Given the description of an element on the screen output the (x, y) to click on. 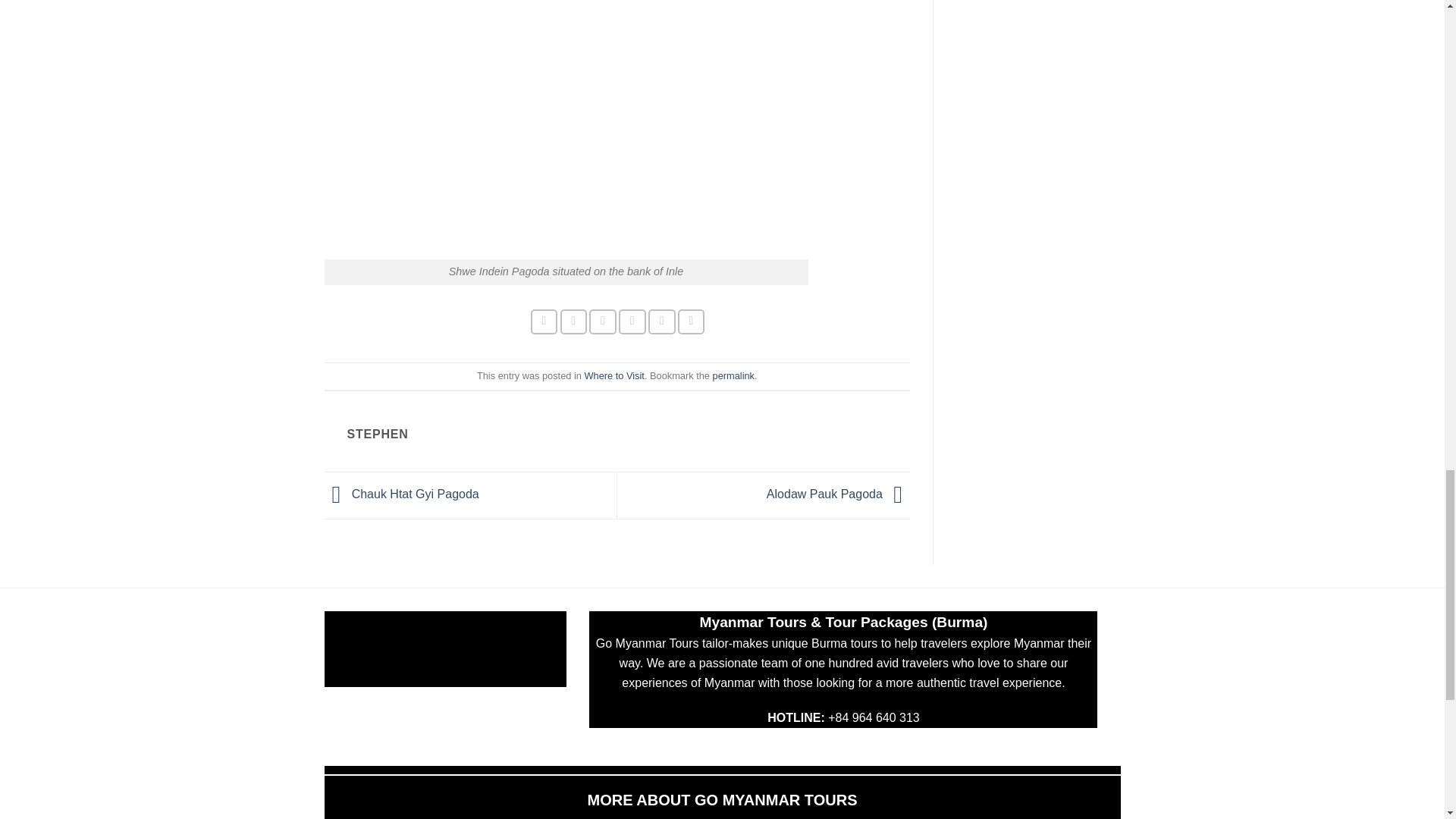
Share on Facebook (544, 321)
Email to a Friend (602, 321)
Share on Telegram (691, 321)
Permalink to Shwe Indein Pagoda (733, 375)
Share on Twitter (574, 321)
Share on Tumblr (661, 321)
Pin on Pinterest (632, 321)
